Given the description of an element on the screen output the (x, y) to click on. 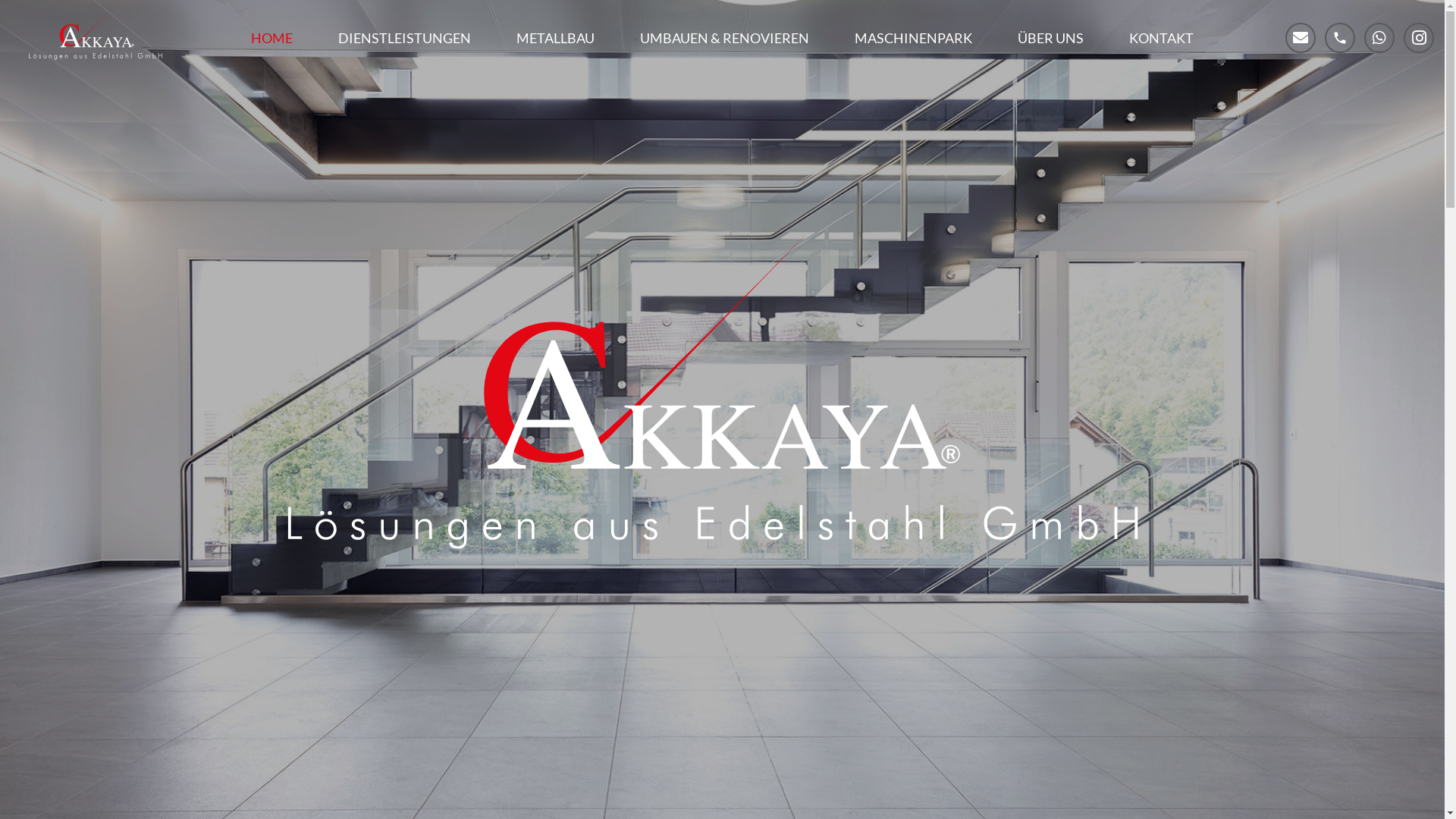
phone Element type: text (1339, 37)
KONTAKT Element type: text (1161, 37)
MASCHINENPARK Element type: text (912, 37)
METALLBAU Element type: text (555, 37)
Instagram Element type: hover (1418, 37)
HOME Element type: text (271, 37)
E-Mail Element type: hover (1300, 37)
UMBAUEN & RENOVIEREN Element type: text (724, 37)
WhatsApp Element type: hover (1379, 37)
DIENSTLEISTUNGEN Element type: text (404, 37)
